Given the description of an element on the screen output the (x, y) to click on. 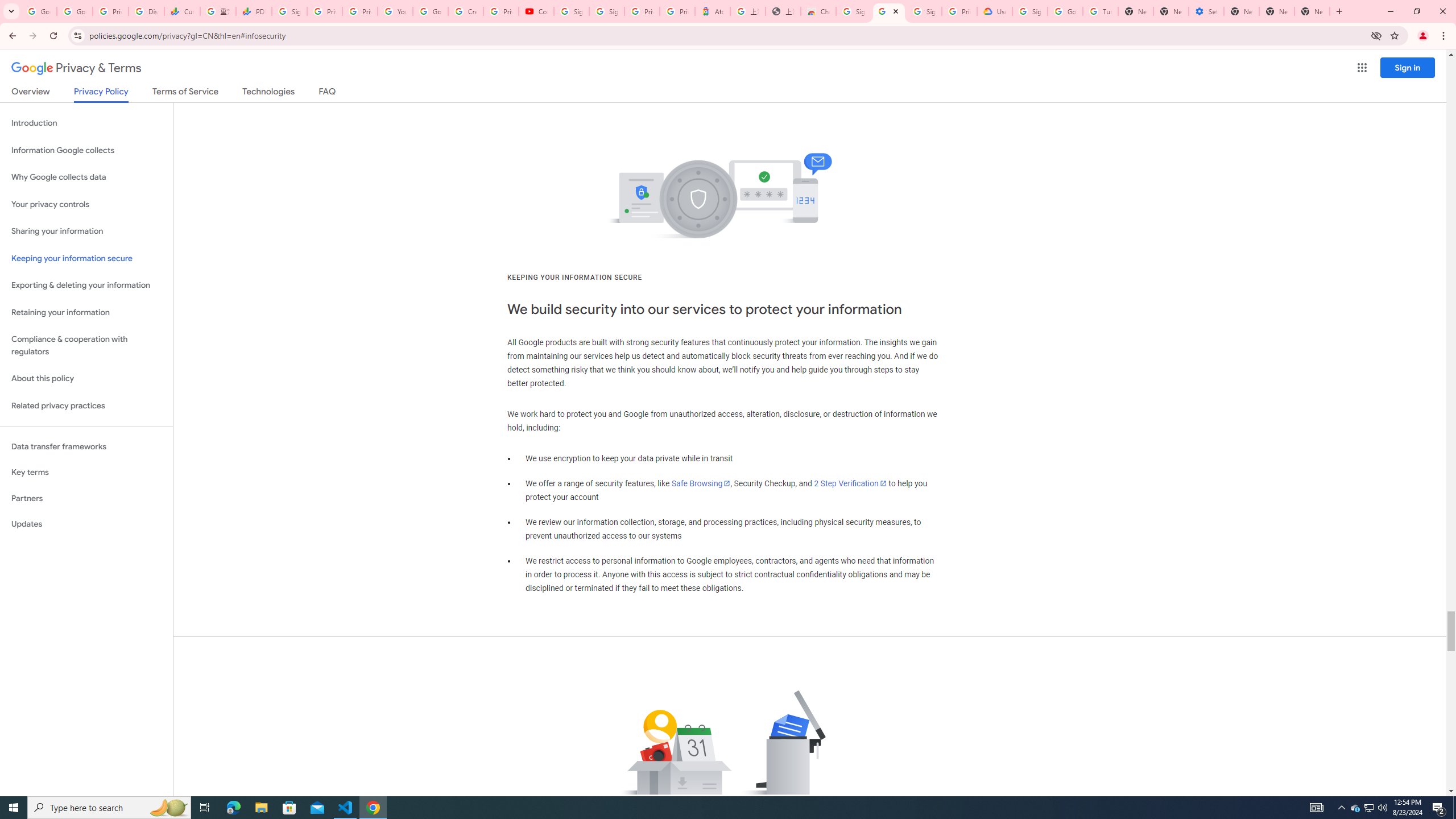
New Tab (1135, 11)
Google Workspace Admin Community (39, 11)
Keeping your information secure (86, 258)
Chrome Web Store - Color themes by Chrome (817, 11)
Sharing your information (86, 230)
New Tab (1312, 11)
